Given the description of an element on the screen output the (x, y) to click on. 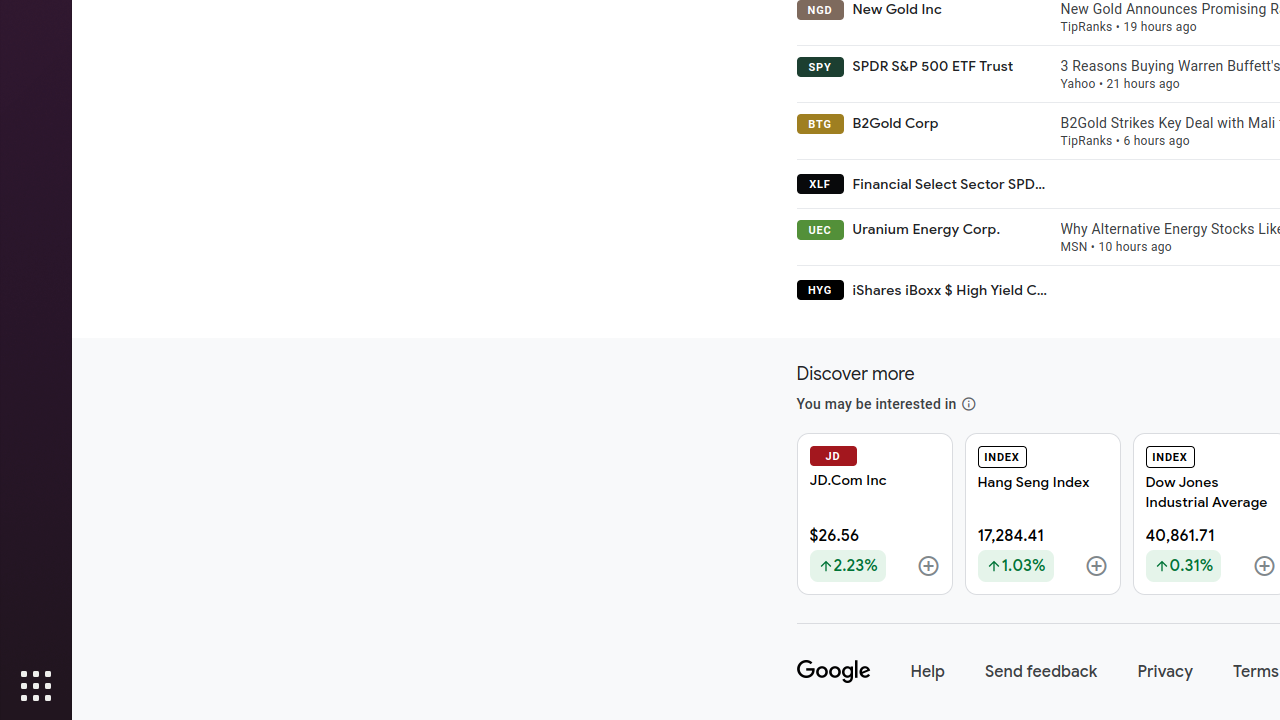
JD JD.Com Inc $26.56 Up by 2.23% Element type: link (874, 514)
Send feedback Element type: push-button (1041, 672)
